Given the description of an element on the screen output the (x, y) to click on. 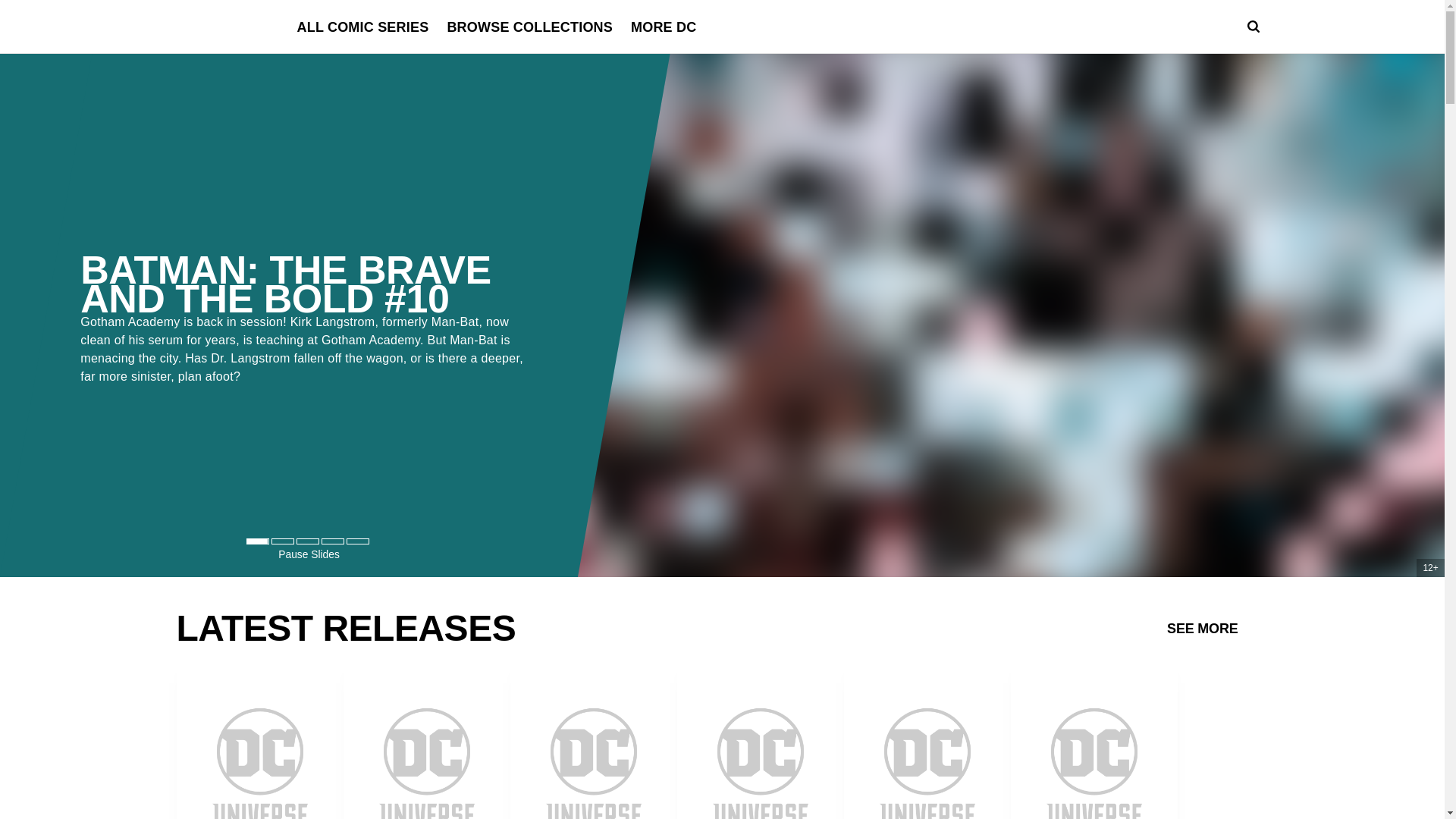
BROWSE COLLECTIONS (529, 26)
DC Universe Infinite (218, 26)
BROWSE COLLECTIONS (529, 26)
SEE MORE (1202, 627)
MORE DC (662, 26)
MORE DC (662, 26)
ALL COMIC SERIES (363, 26)
ALL COMIC SERIES (363, 26)
